Given the description of an element on the screen output the (x, y) to click on. 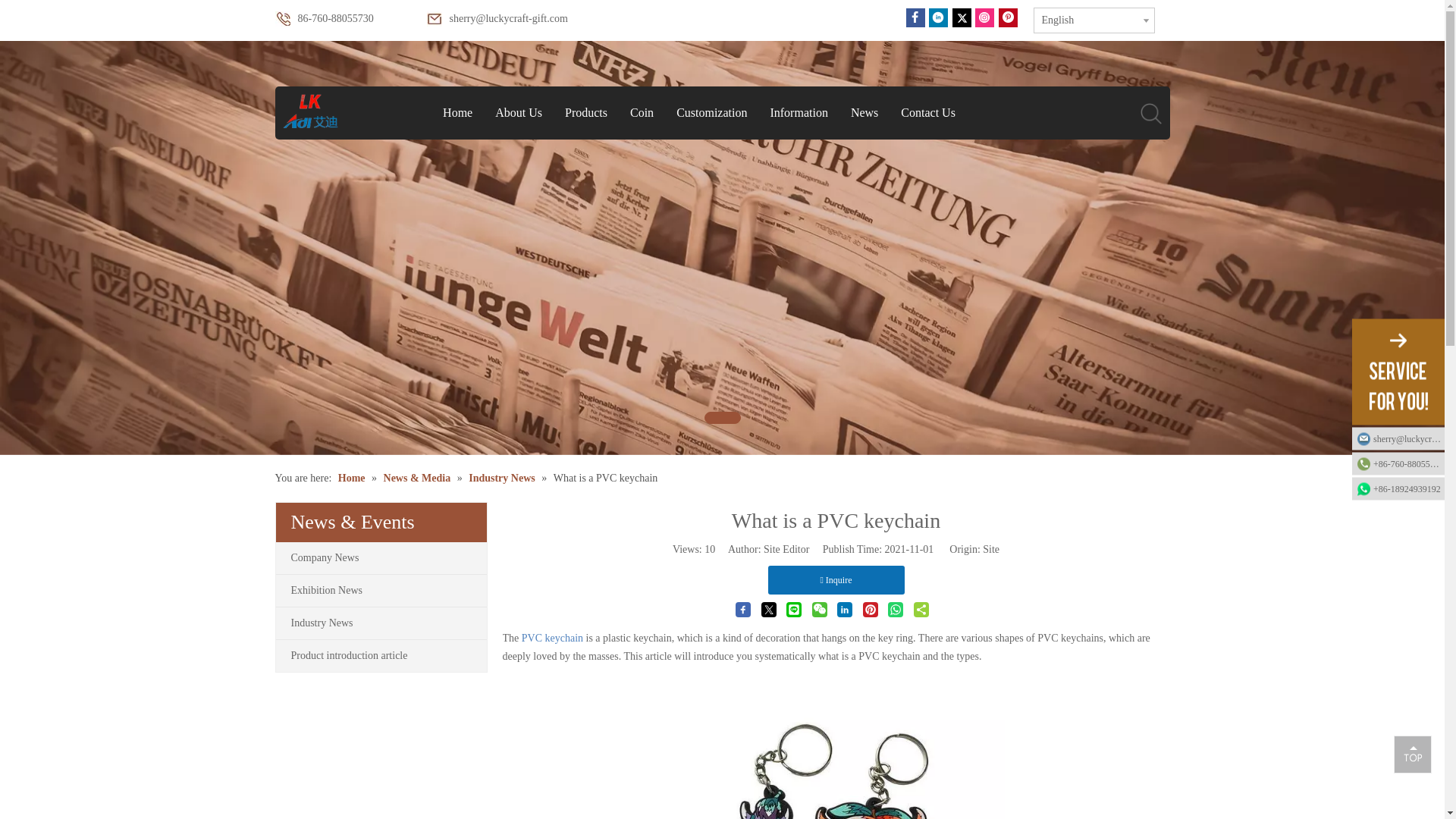
Home (456, 112)
Pinterest (1006, 17)
Twitter (961, 17)
About Us (518, 112)
Industry News (381, 623)
Products (585, 112)
Product introduction article (381, 655)
Exhibition News (381, 590)
Facebook (914, 17)
Linkedin (937, 17)
Company News (381, 558)
Instagram (984, 17)
